Given the description of an element on the screen output the (x, y) to click on. 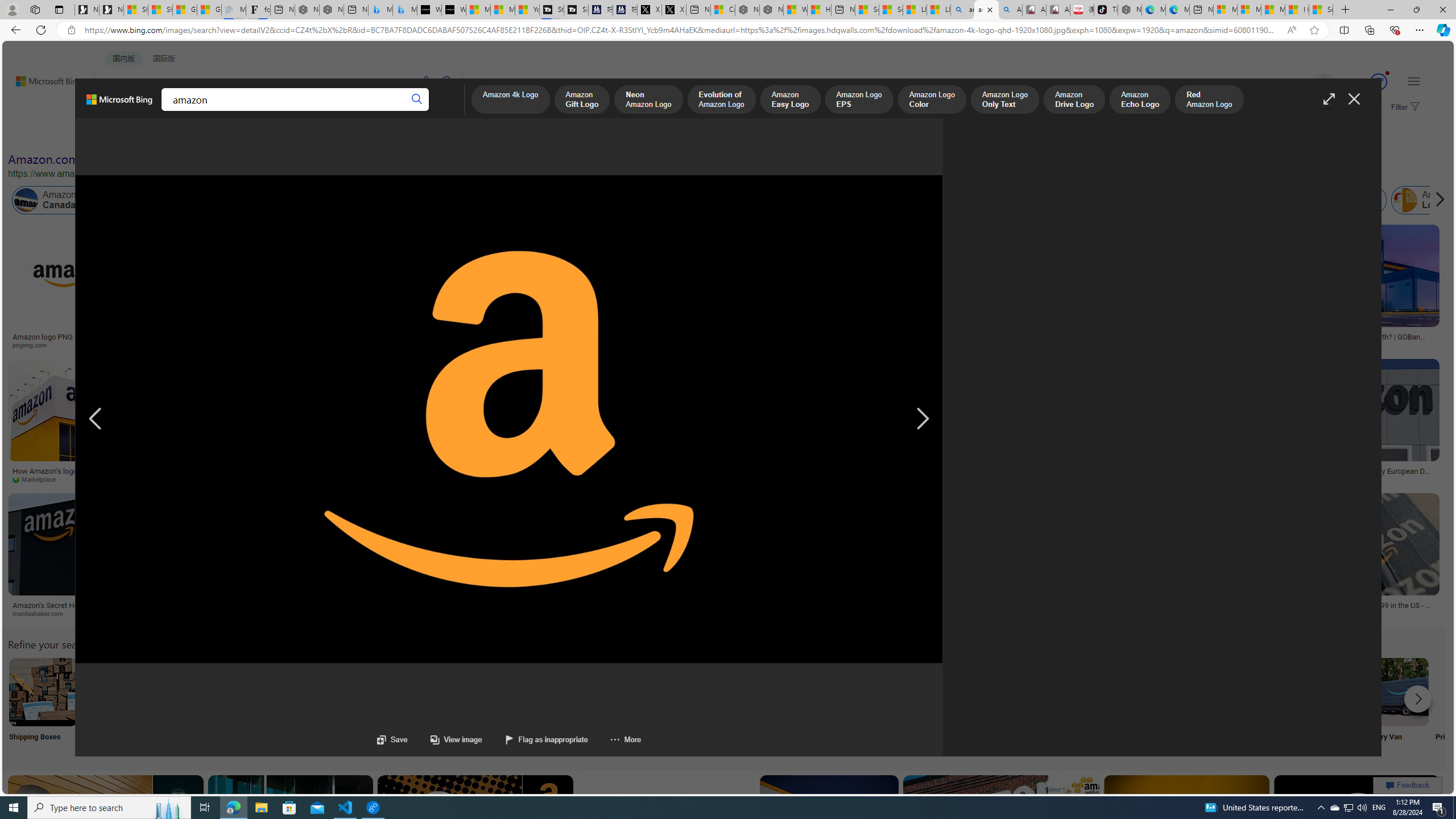
Layout (252, 135)
Prime Label (1018, 706)
Amazon Official Website Official Website (1243, 706)
Sign My Account (718, 706)
Amazon Clip Art (192, 691)
latimes.com (986, 613)
License (377, 135)
